Given the description of an element on the screen output the (x, y) to click on. 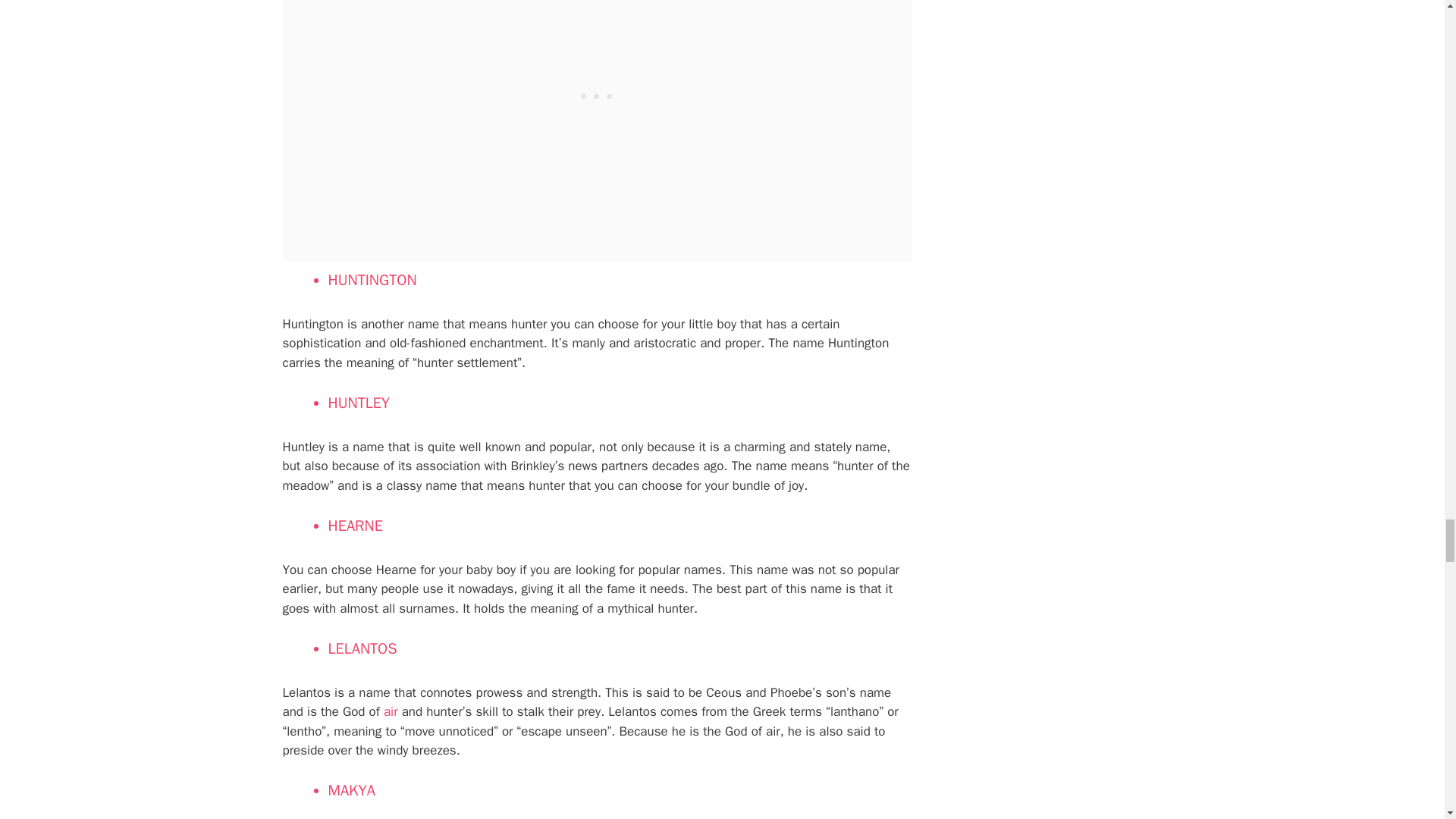
air (390, 711)
